Given the description of an element on the screen output the (x, y) to click on. 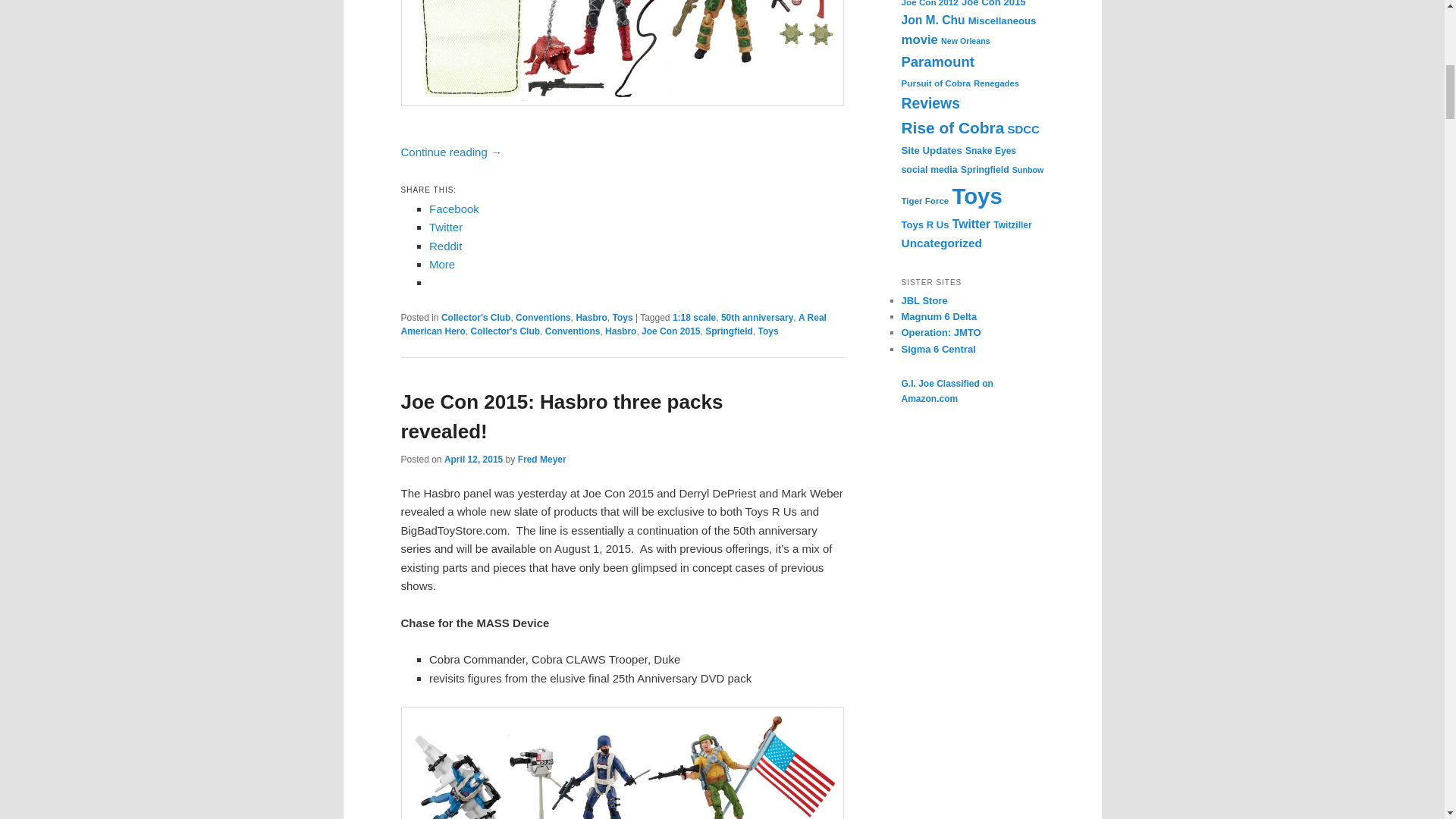
7:06 AM (473, 459)
Click to share on Facebook (454, 208)
Click to share on Reddit (445, 245)
Click to share on Twitter (446, 226)
View all posts by Fred Meyer (542, 459)
